Given the description of an element on the screen output the (x, y) to click on. 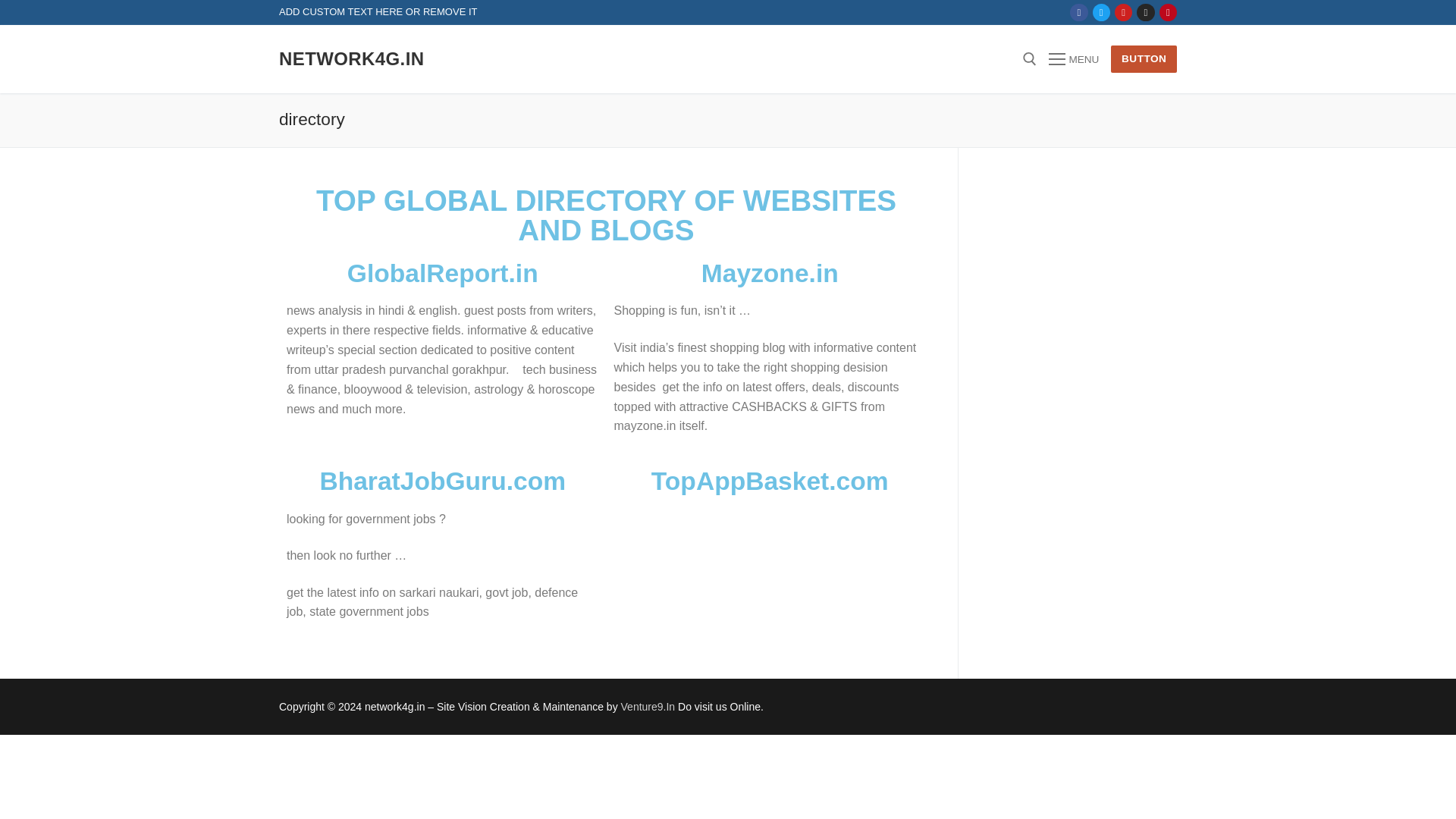
BharatJobGuru.com (442, 480)
Mayzone.in (769, 273)
Youtube (1123, 12)
Venture9.In (648, 706)
MENU (1073, 58)
NETWORK4G.IN (351, 58)
Twitter (1101, 12)
TopAppBasket.com (769, 480)
Instagram (1145, 12)
BUTTON (1143, 59)
